Given the description of an element on the screen output the (x, y) to click on. 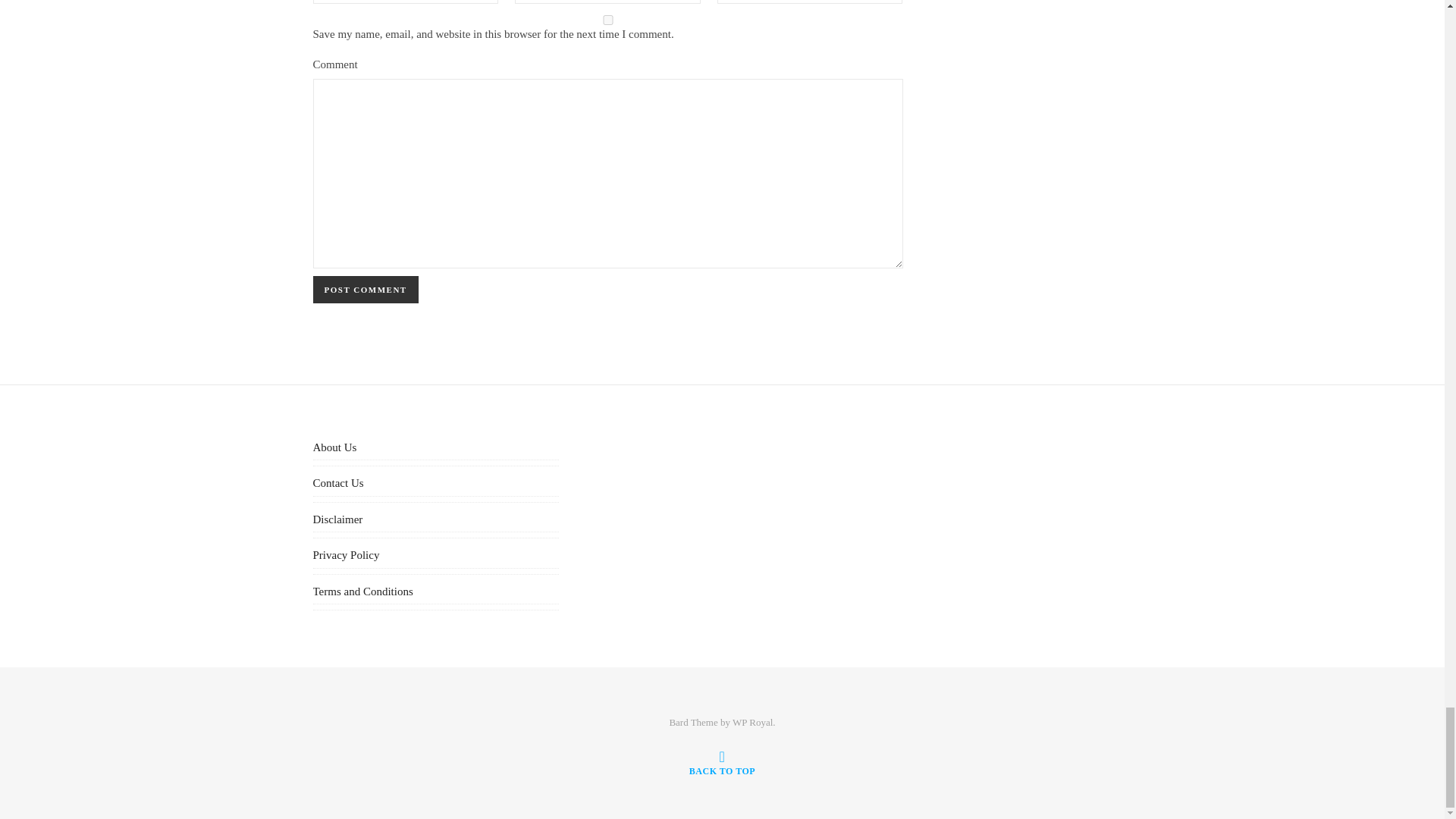
BACK TO TOP (722, 763)
yes (607, 20)
Post Comment (365, 289)
